Given the description of an element on the screen output the (x, y) to click on. 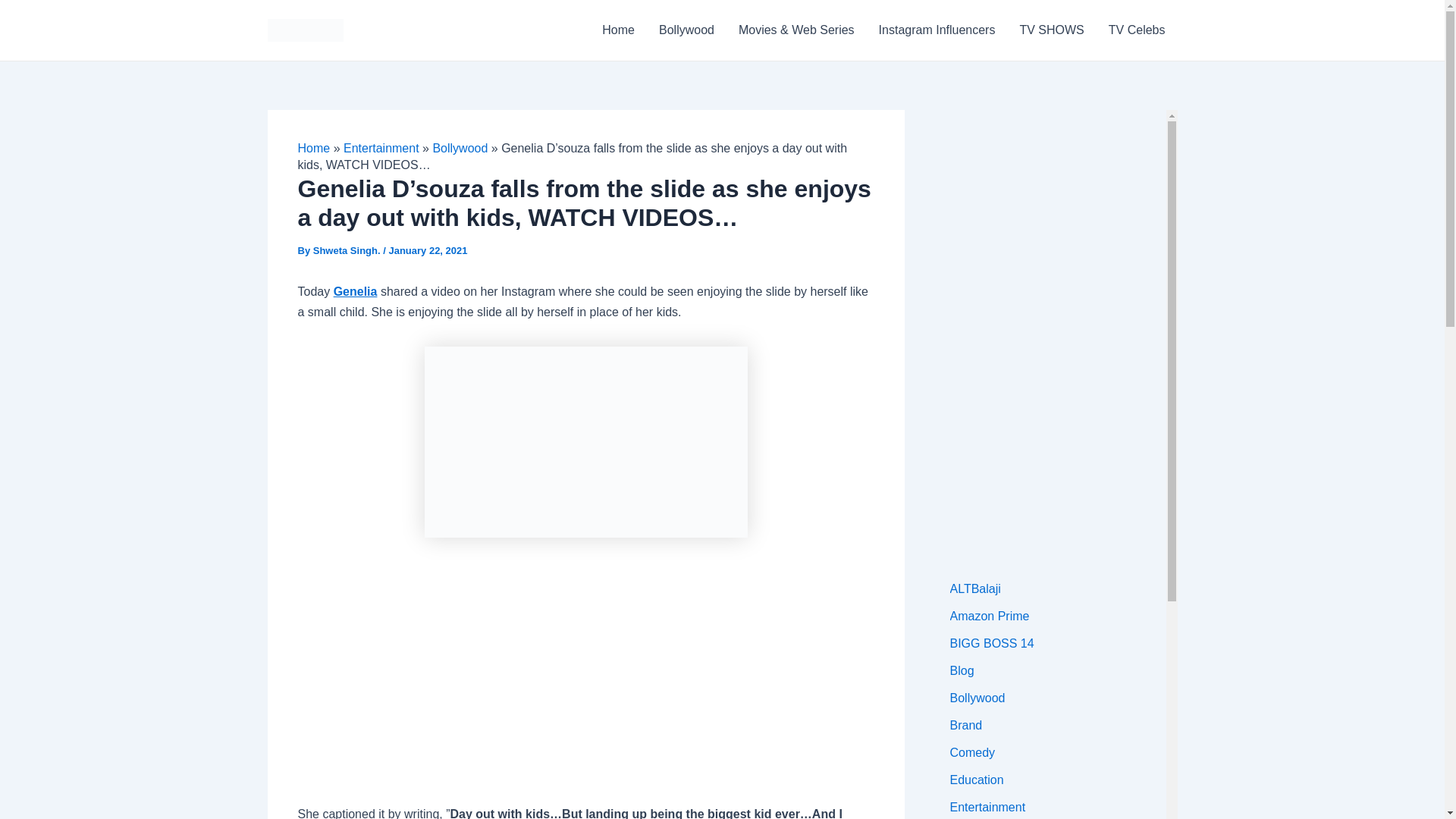
Entertainment (381, 147)
TV Celebs (1136, 30)
TV SHOWS (1051, 30)
View all posts by Shweta Singh. (347, 250)
Genelia (355, 291)
Home (313, 147)
Shweta Singh. (347, 250)
Advertisement (585, 680)
Instagram Influencers (936, 30)
Bollywood (459, 147)
